Given the description of an element on the screen output the (x, y) to click on. 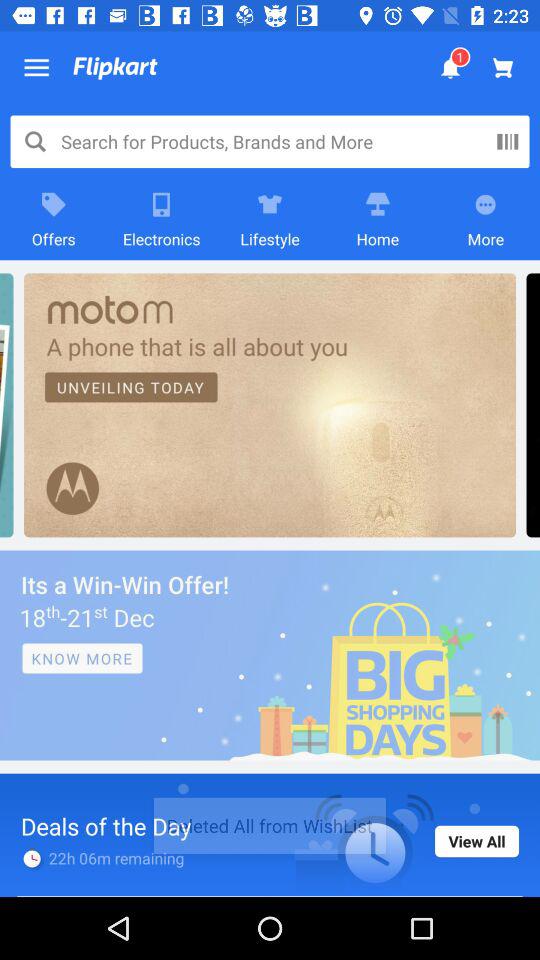
navigate to advertisement page (270, 655)
